Given the description of an element on the screen output the (x, y) to click on. 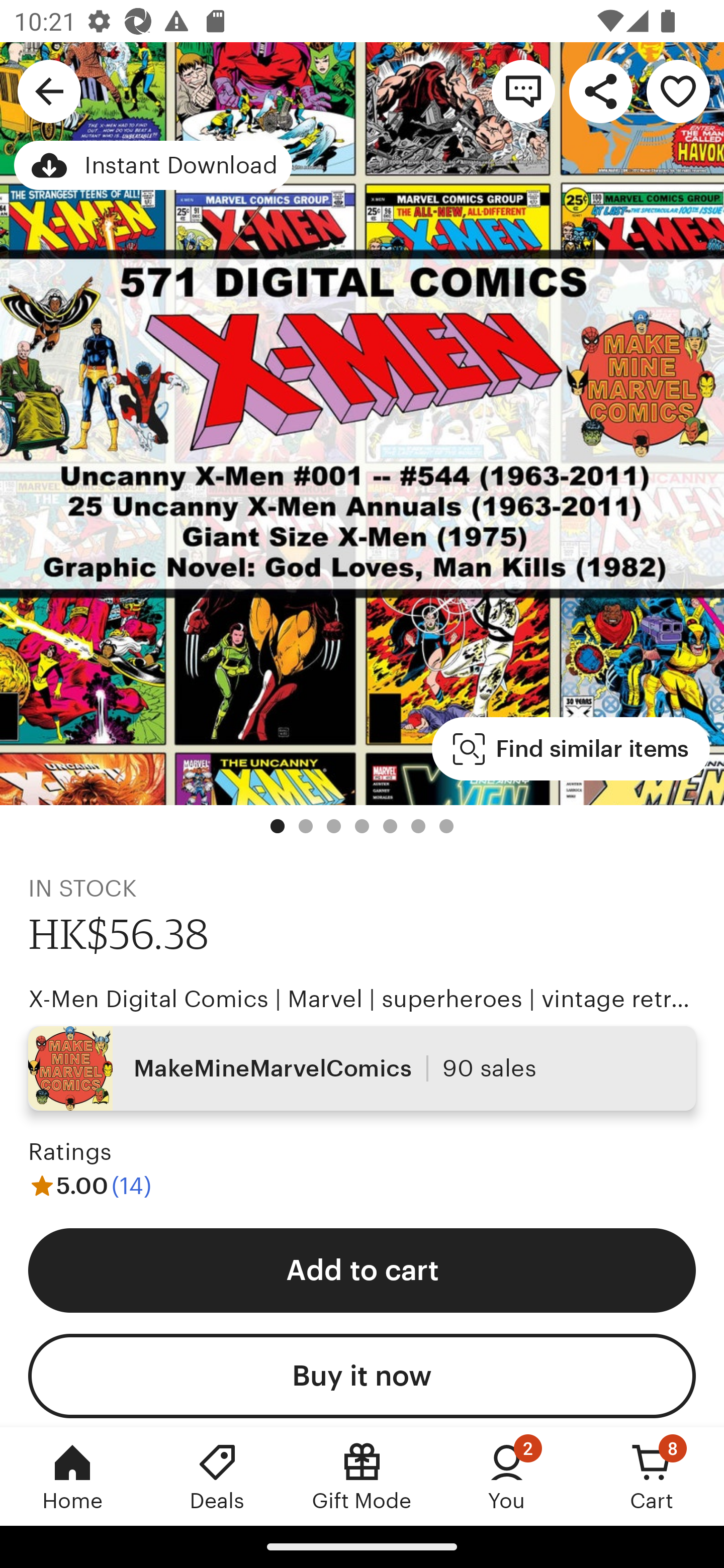
Navigate up (49, 90)
Contact shop (523, 90)
Share (600, 90)
Find similar items (571, 748)
MakeMineMarvelComics 90 sales (361, 1067)
Ratings (70, 1151)
5.00 (14) (89, 1185)
Add to cart (361, 1269)
Buy it now (361, 1375)
Deals (216, 1475)
Gift Mode (361, 1475)
You, 2 new notifications You (506, 1475)
Cart, 8 new notifications Cart (651, 1475)
